Given the description of an element on the screen output the (x, y) to click on. 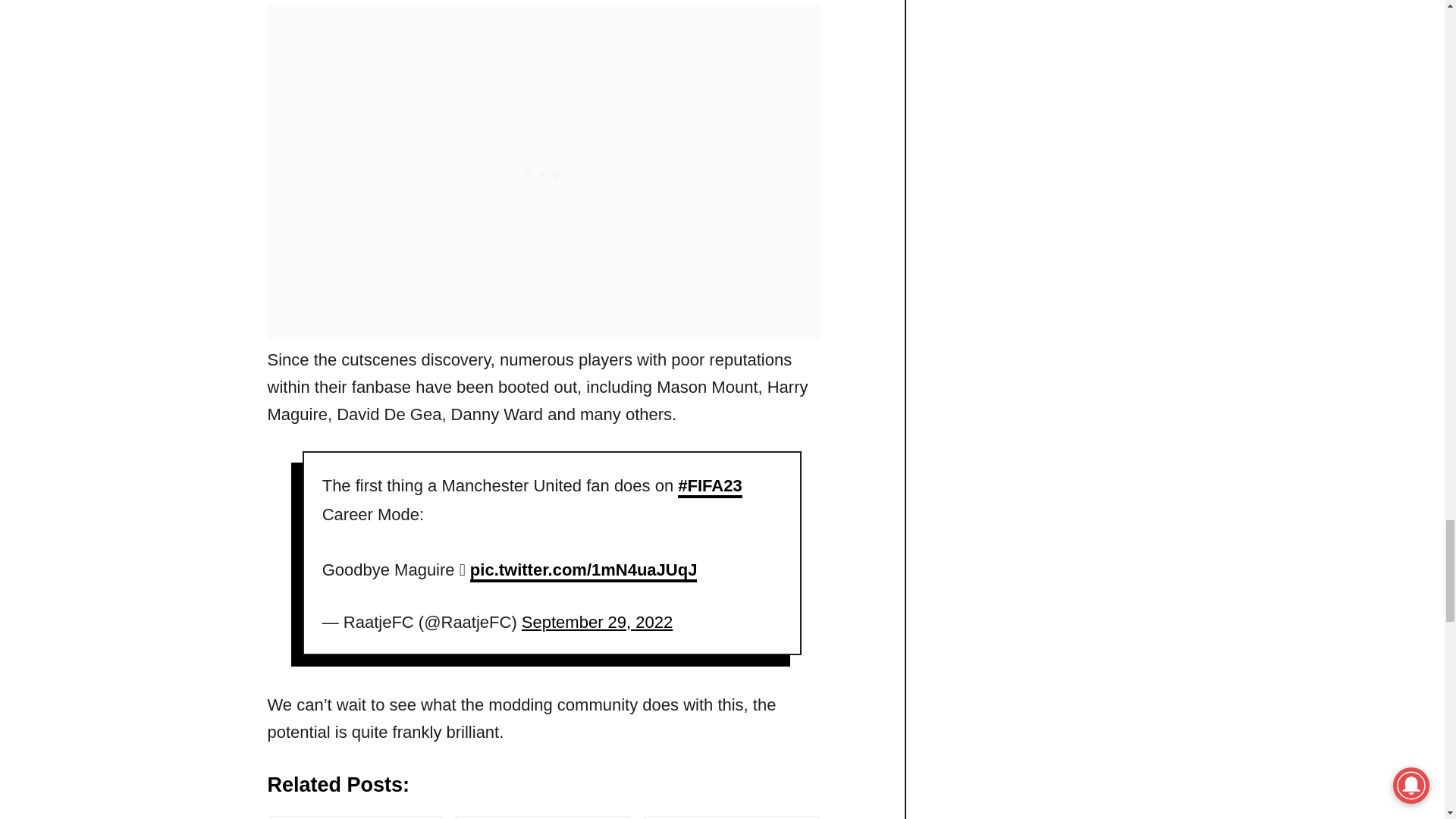
September 29, 2022 (596, 621)
